Given the description of an element on the screen output the (x, y) to click on. 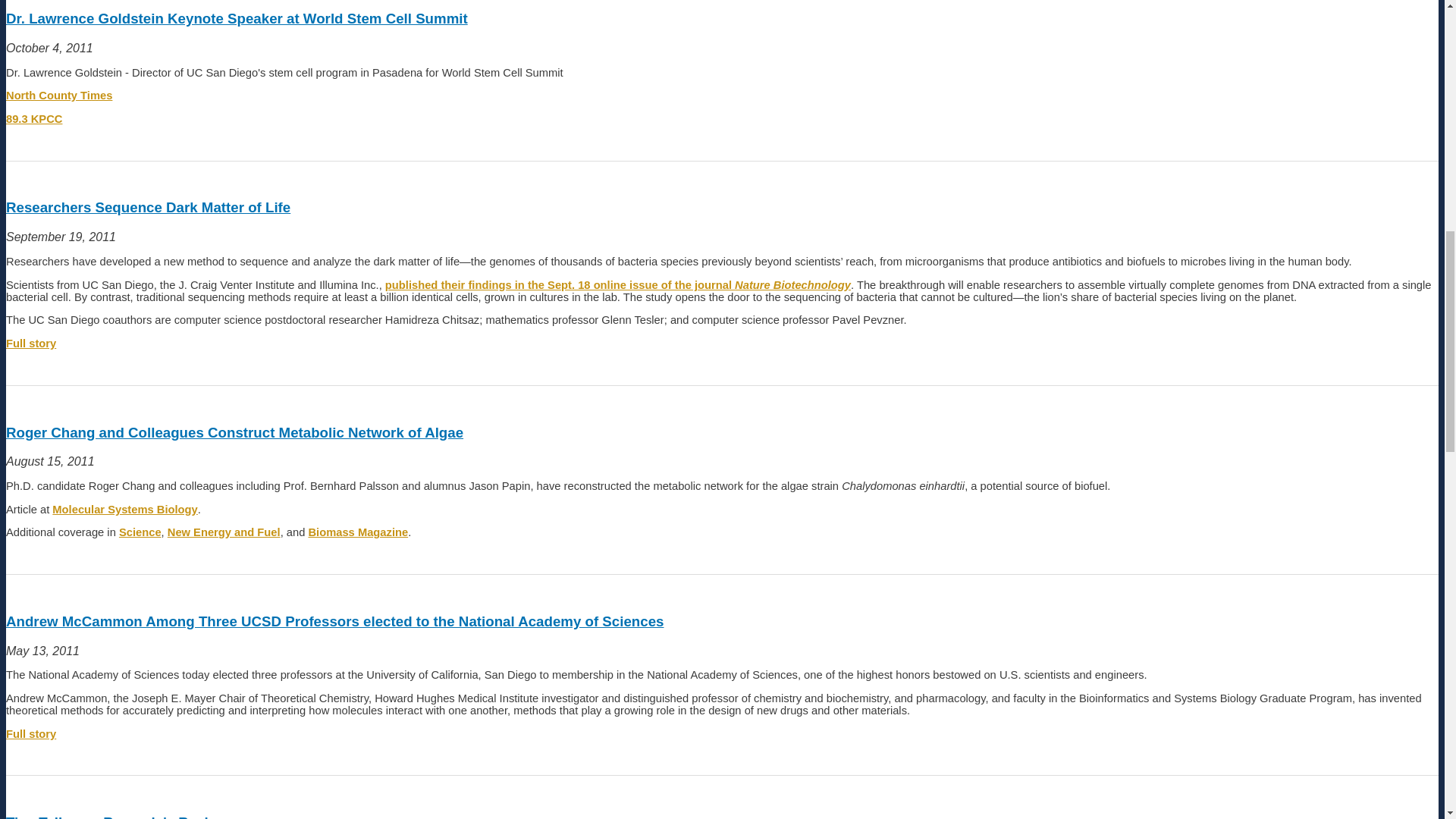
Researchers Sequence Dark Matter of Life (617, 285)
Researchers Sequence Dark Matter of Life (30, 343)
